Given the description of an element on the screen output the (x, y) to click on. 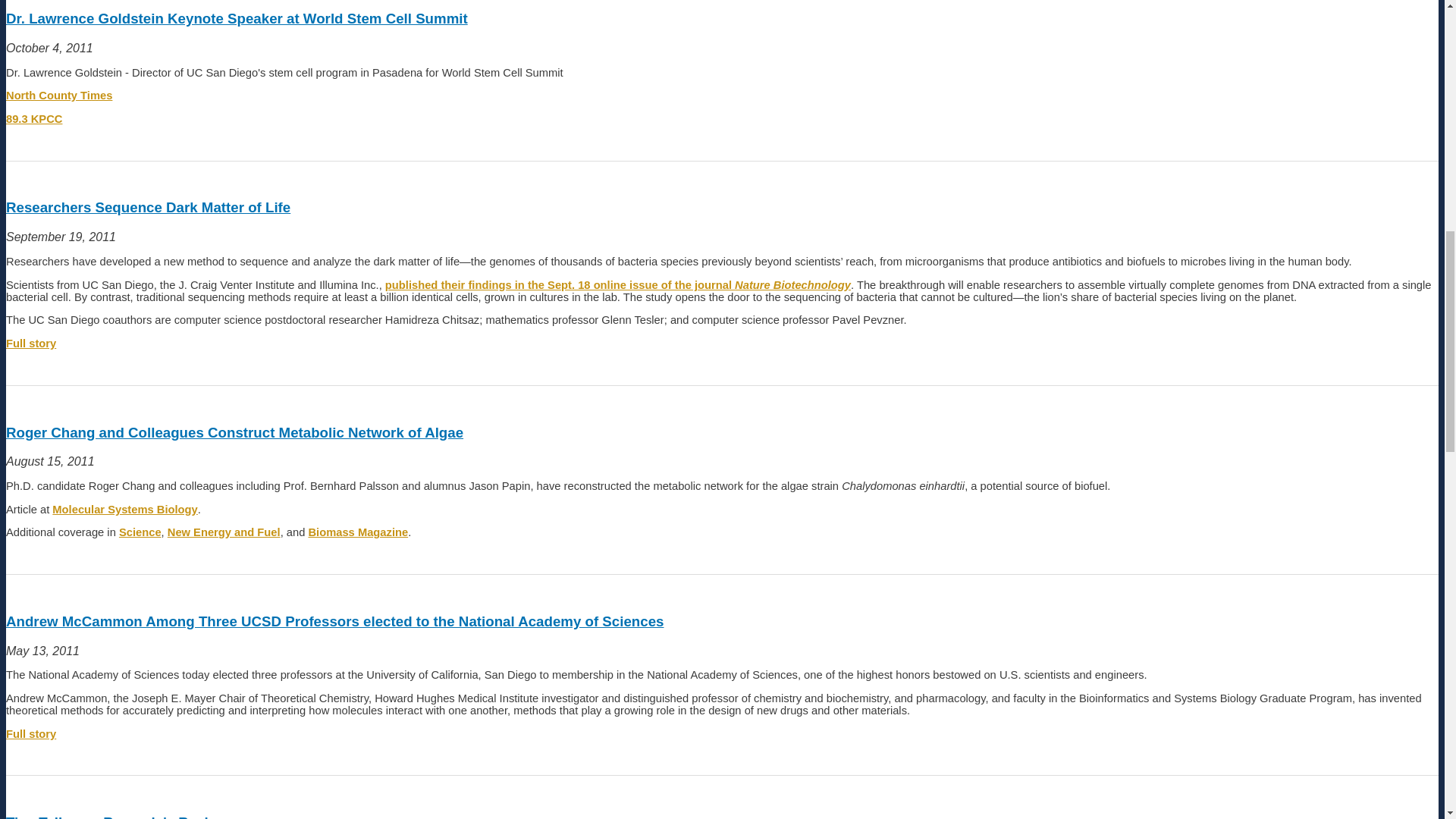
Researchers Sequence Dark Matter of Life (617, 285)
Researchers Sequence Dark Matter of Life (30, 343)
